Given the description of an element on the screen output the (x, y) to click on. 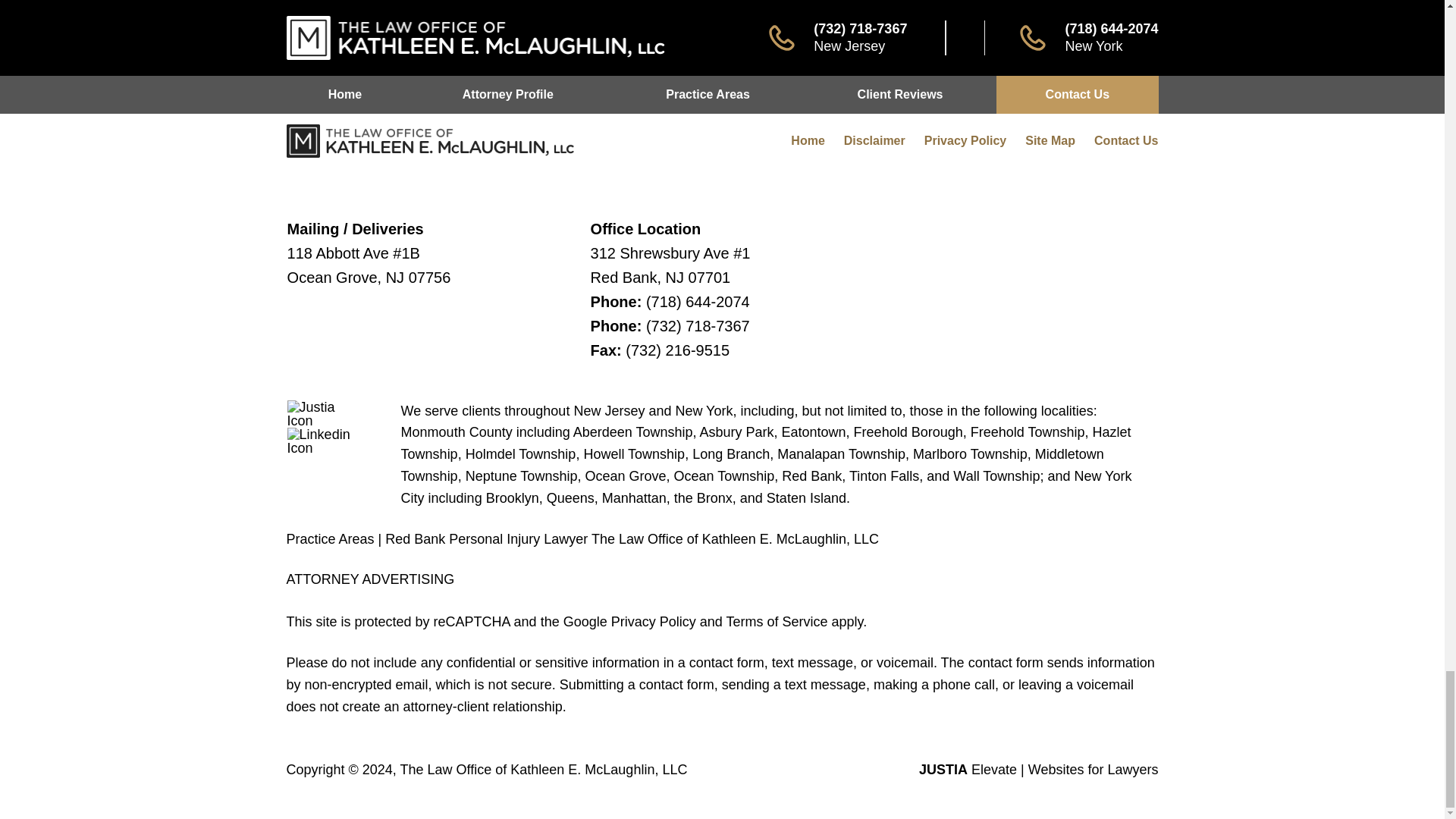
Justia (323, 413)
Terms of Service (776, 621)
Privacy Policy (965, 140)
Google Privacy Policy (629, 621)
Site Map (1050, 140)
Contact Us (1125, 140)
The Law Office of Kathleen E. McLaughlin, LLC (543, 769)
Linkedin (323, 441)
Home (807, 140)
Pay Now (881, 13)
Disclaimer (874, 140)
